Given the description of an element on the screen output the (x, y) to click on. 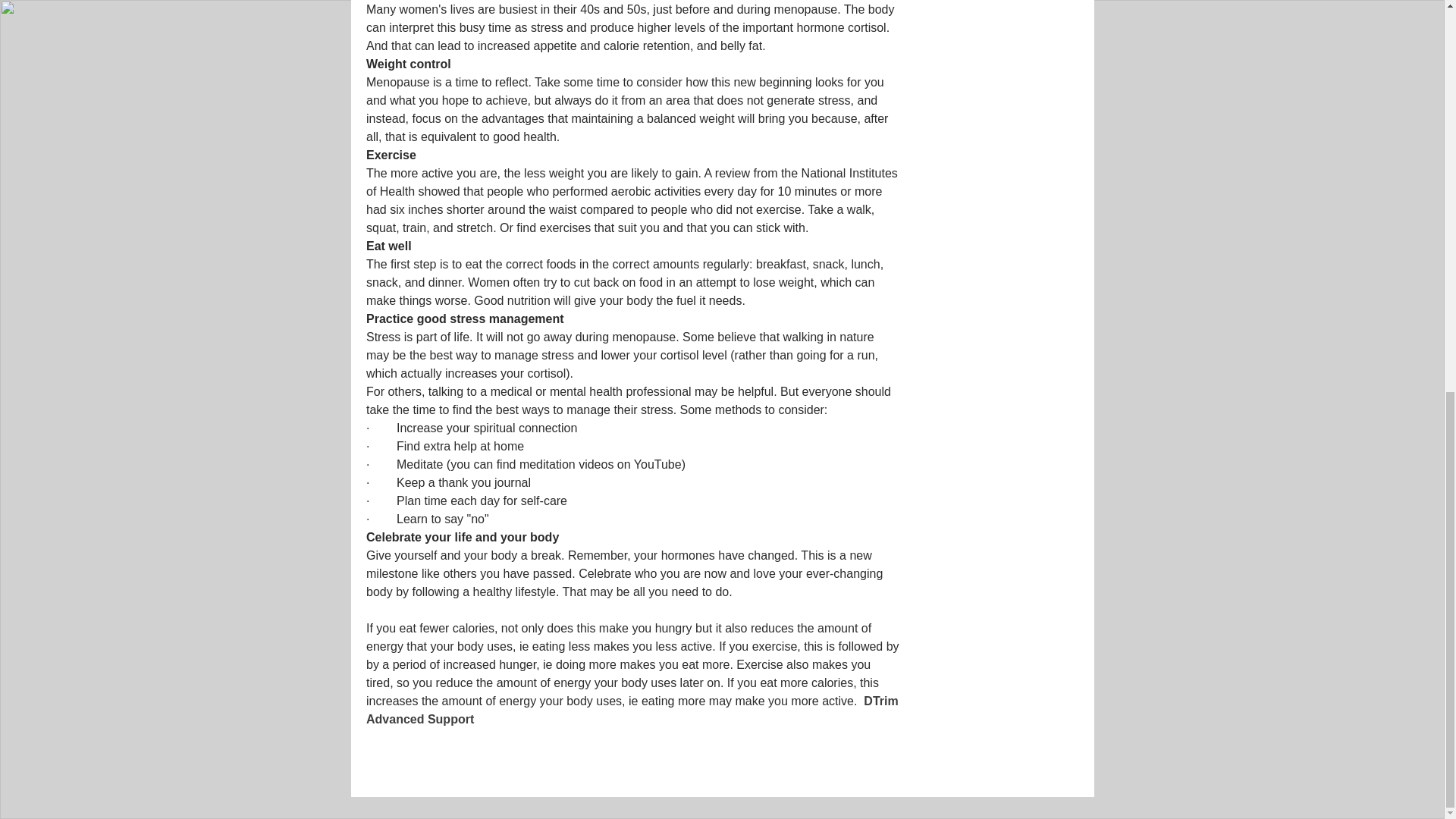
DTrim Advanced Support (633, 709)
